Given the description of an element on the screen output the (x, y) to click on. 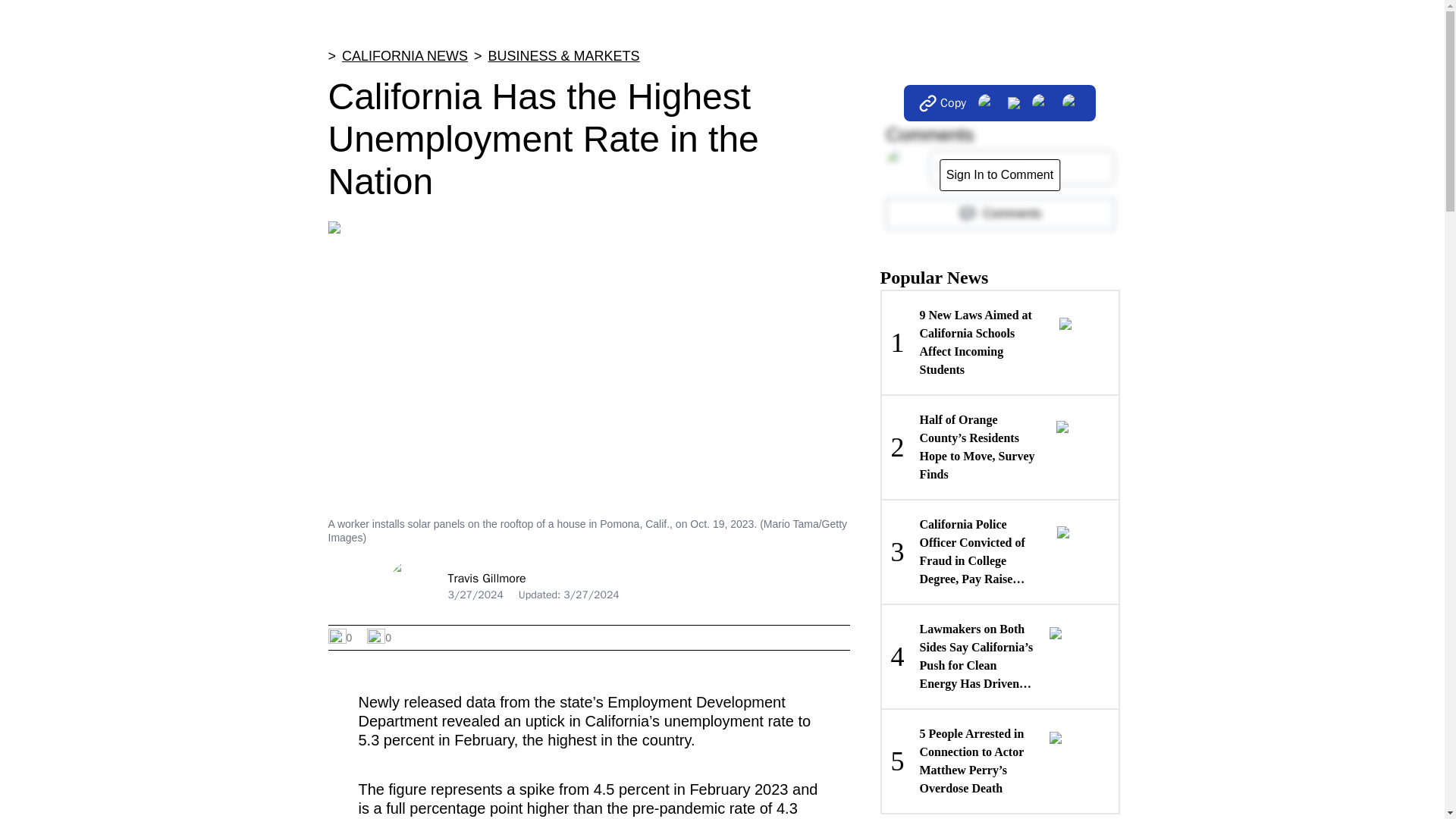
Sign In to Comment (999, 174)
CALIFORNIA NEWS (404, 55)
0 (379, 637)
Comments (999, 214)
Travis Gillmore (485, 578)
